Given the description of an element on the screen output the (x, y) to click on. 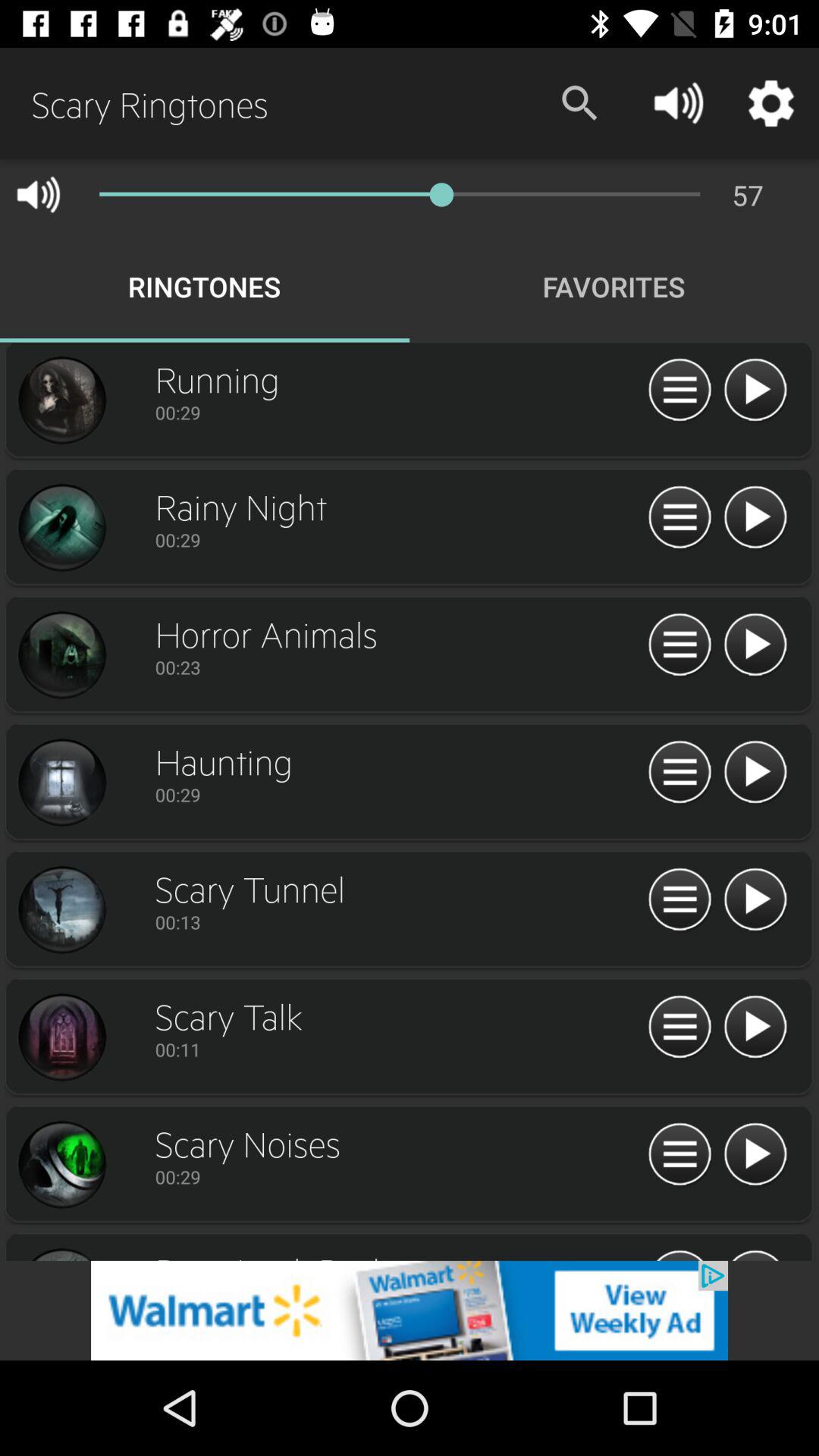
go to play option (755, 645)
